Given the description of an element on the screen output the (x, y) to click on. 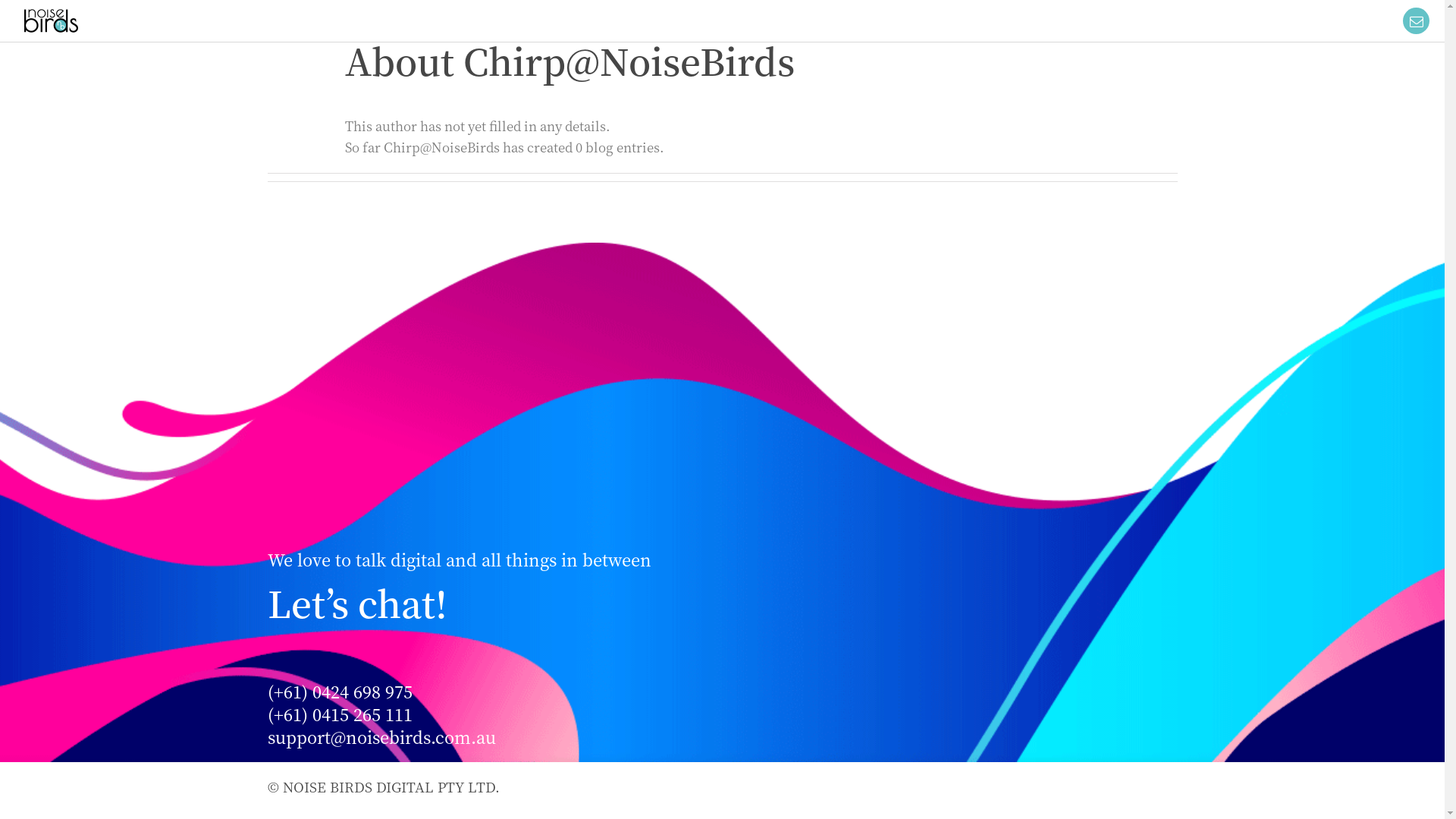
Toggle Sliding Bar Area Element type: text (1415, 20)
